Given the description of an element on the screen output the (x, y) to click on. 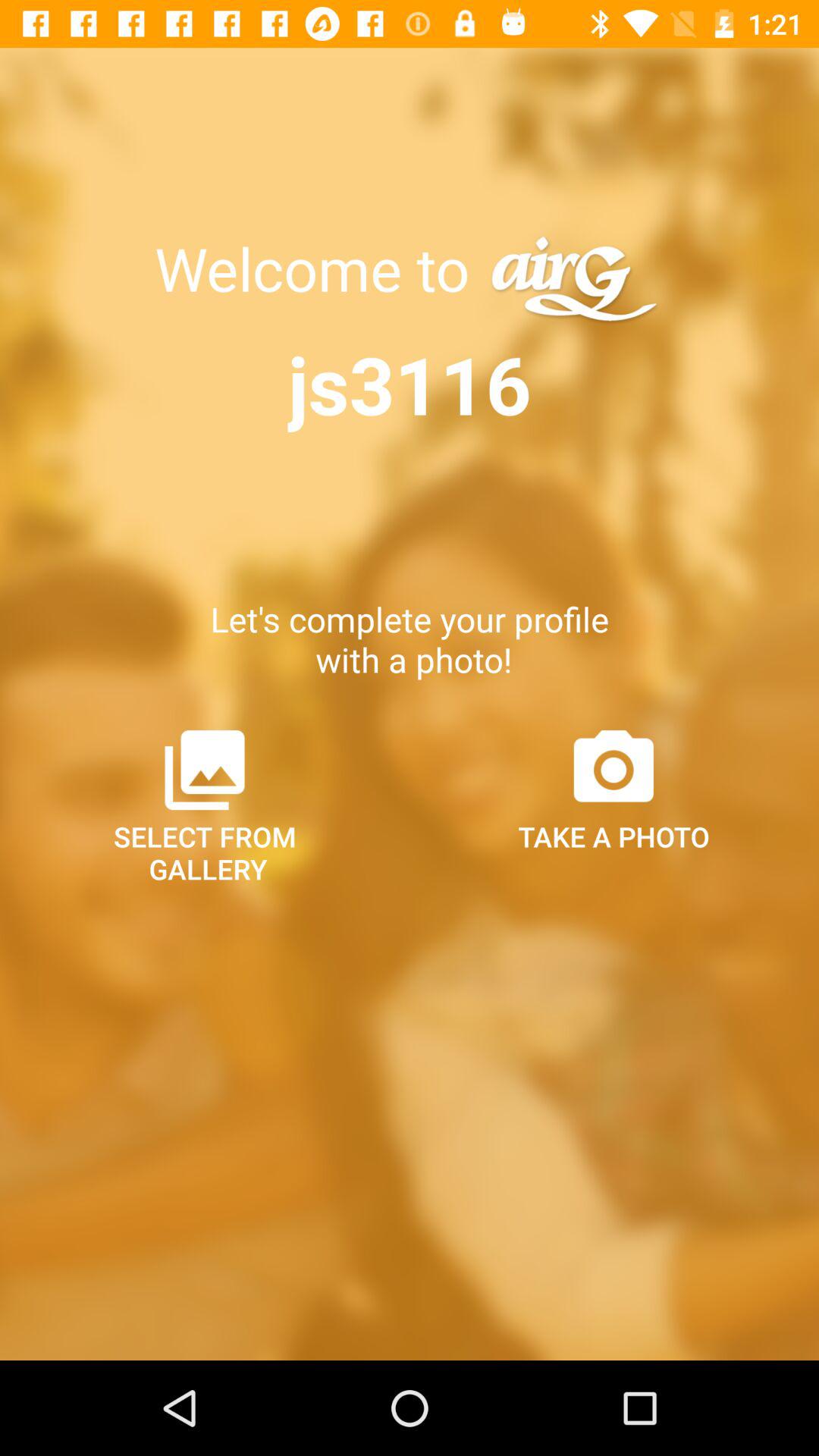
scroll to the welcome to  icon (319, 268)
